Given the description of an element on the screen output the (x, y) to click on. 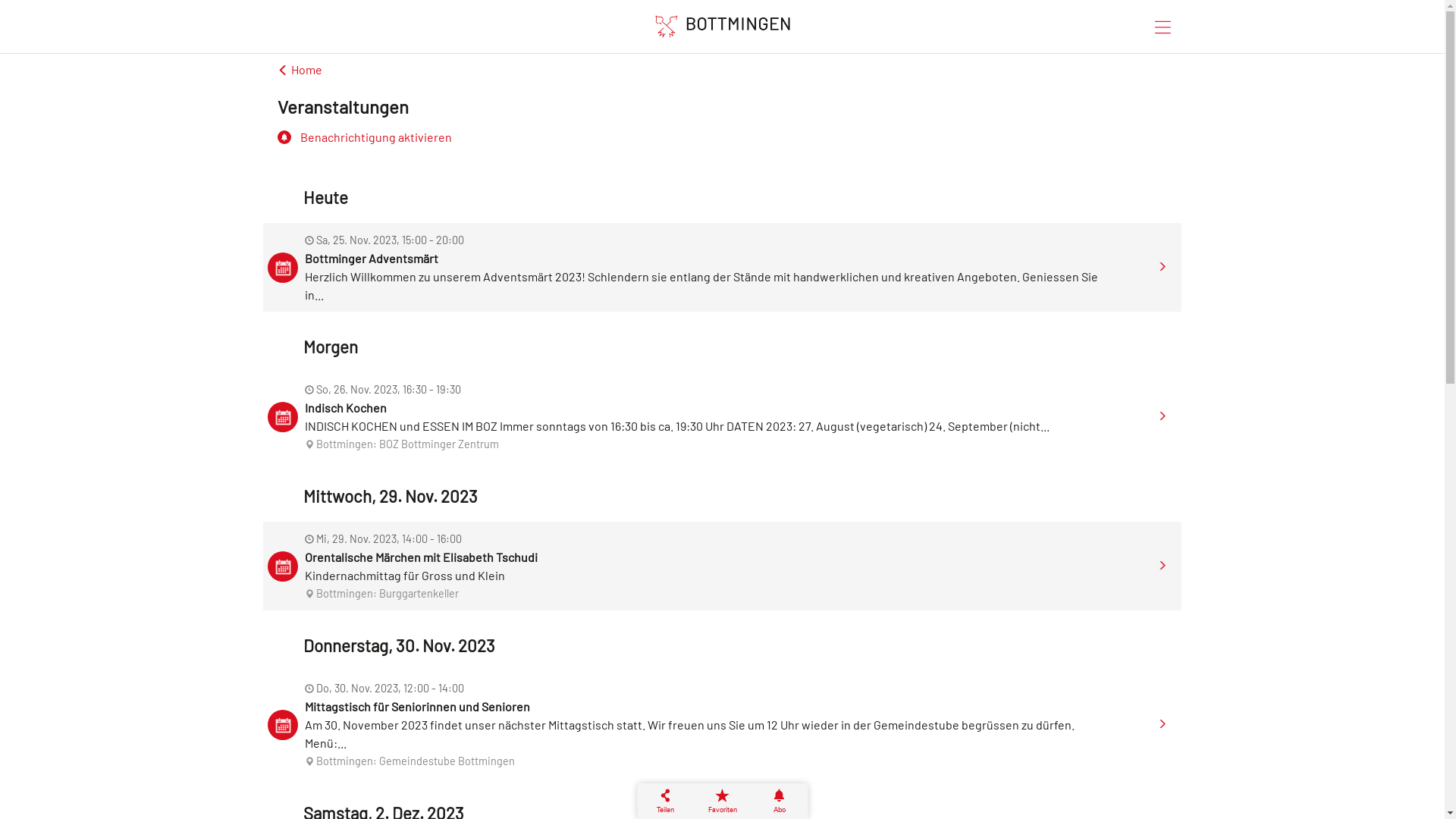
Navigation anzeigen Element type: hover (1162, 24)
Abo Element type: text (778, 800)
Home Element type: text (299, 69)
Teilen Element type: text (665, 800)
Benachrichtigung aktivieren Element type: text (722, 137)
Favoriten Element type: text (721, 800)
